Given the description of an element on the screen output the (x, y) to click on. 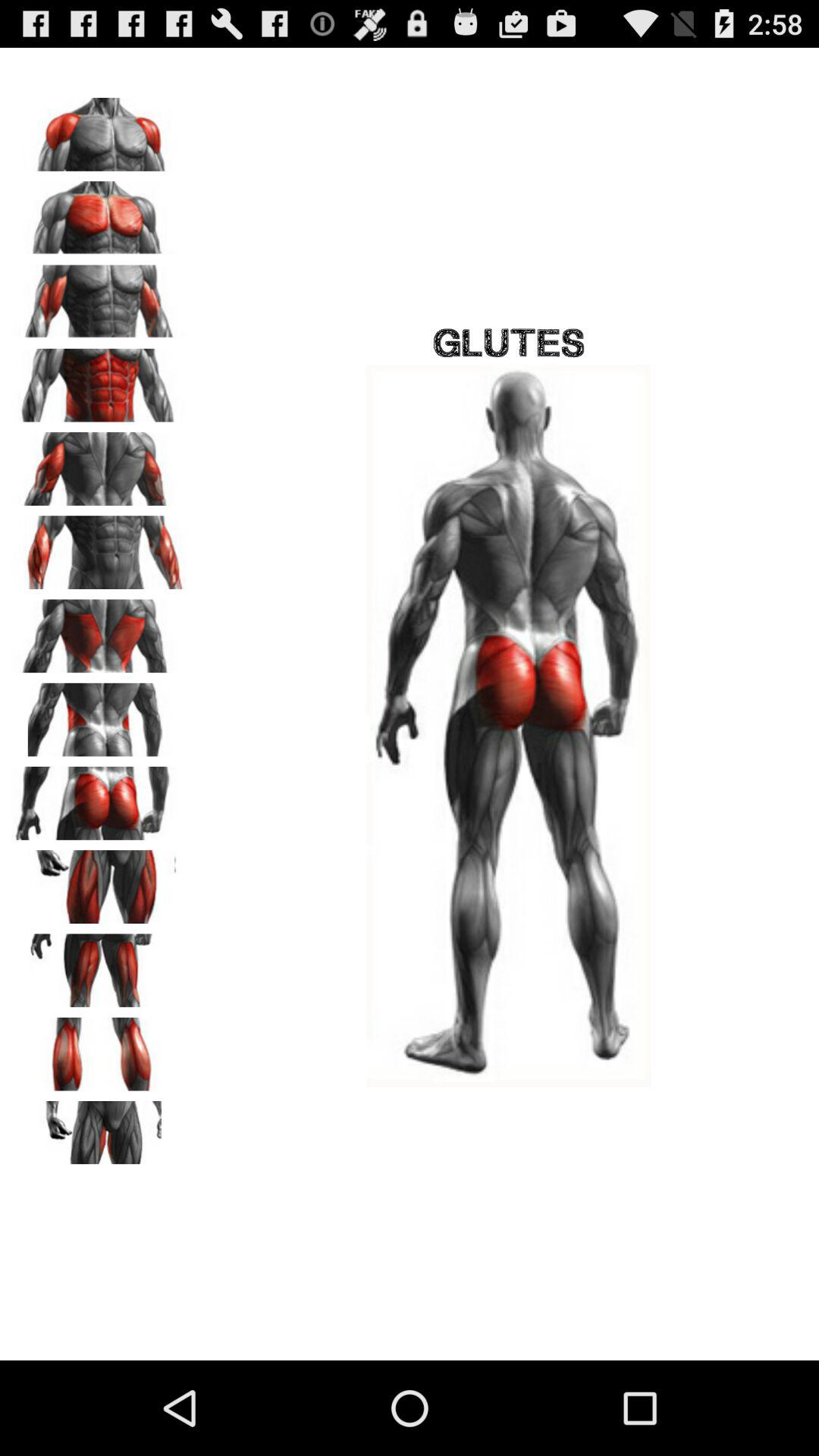
hamstrings selection (99, 965)
